Given the description of an element on the screen output the (x, y) to click on. 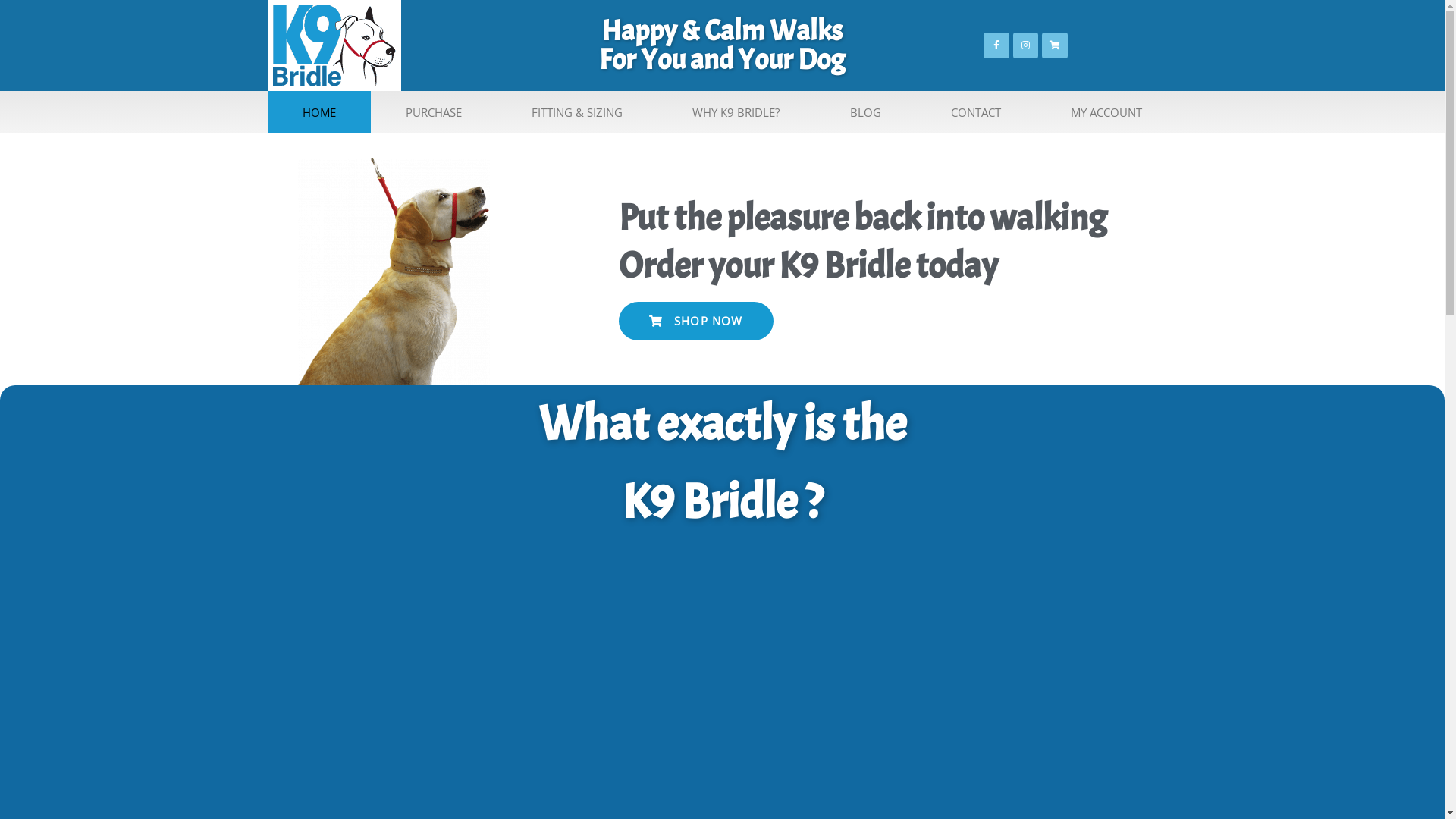
SHOP NOW Element type: text (695, 320)
MY ACCOUNT Element type: text (1105, 112)
Facebook-f Element type: text (996, 45)
HOME Element type: text (318, 112)
PURCHASE Element type: text (433, 112)
BLOG Element type: text (865, 112)
CONTACT Element type: text (975, 112)
WHY K9 BRIDLE? Element type: text (735, 112)
Shopping-cart Element type: text (1054, 45)
Instagram Element type: text (1025, 45)
FITTING & SIZING Element type: text (576, 112)
